Given the description of an element on the screen output the (x, y) to click on. 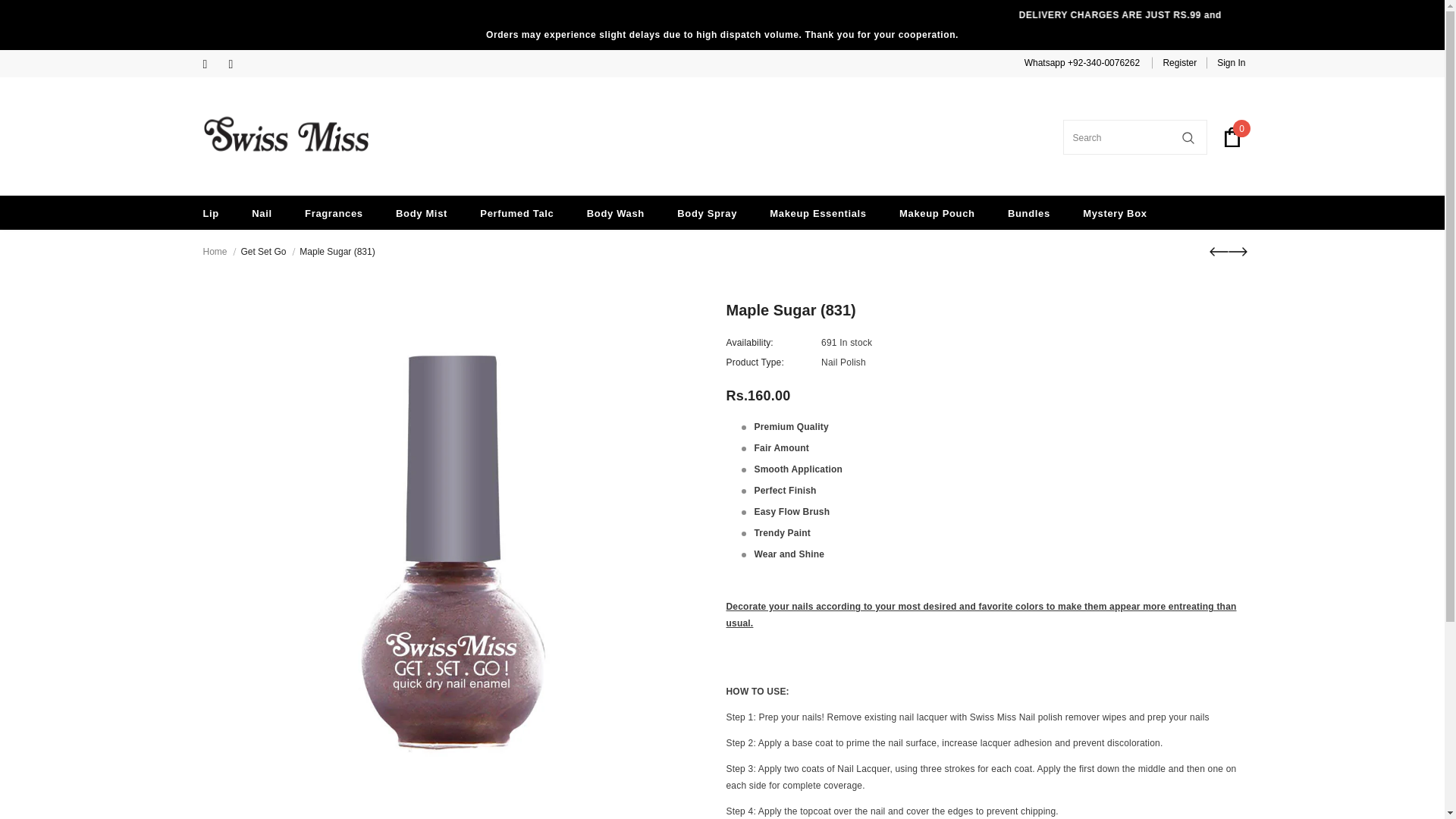
Logo (286, 136)
Register (1178, 62)
Bundles (1028, 212)
Body Wash (615, 212)
Fragrances (333, 212)
Makeup Essentials (818, 212)
Facebook (212, 64)
Body Mist (421, 212)
Perfumed Talc (516, 212)
0 (1232, 137)
Cart Icon (1232, 137)
Get Set Go (262, 251)
Home (215, 251)
Body Spray (706, 212)
Mystery Box (1115, 212)
